Given the description of an element on the screen output the (x, y) to click on. 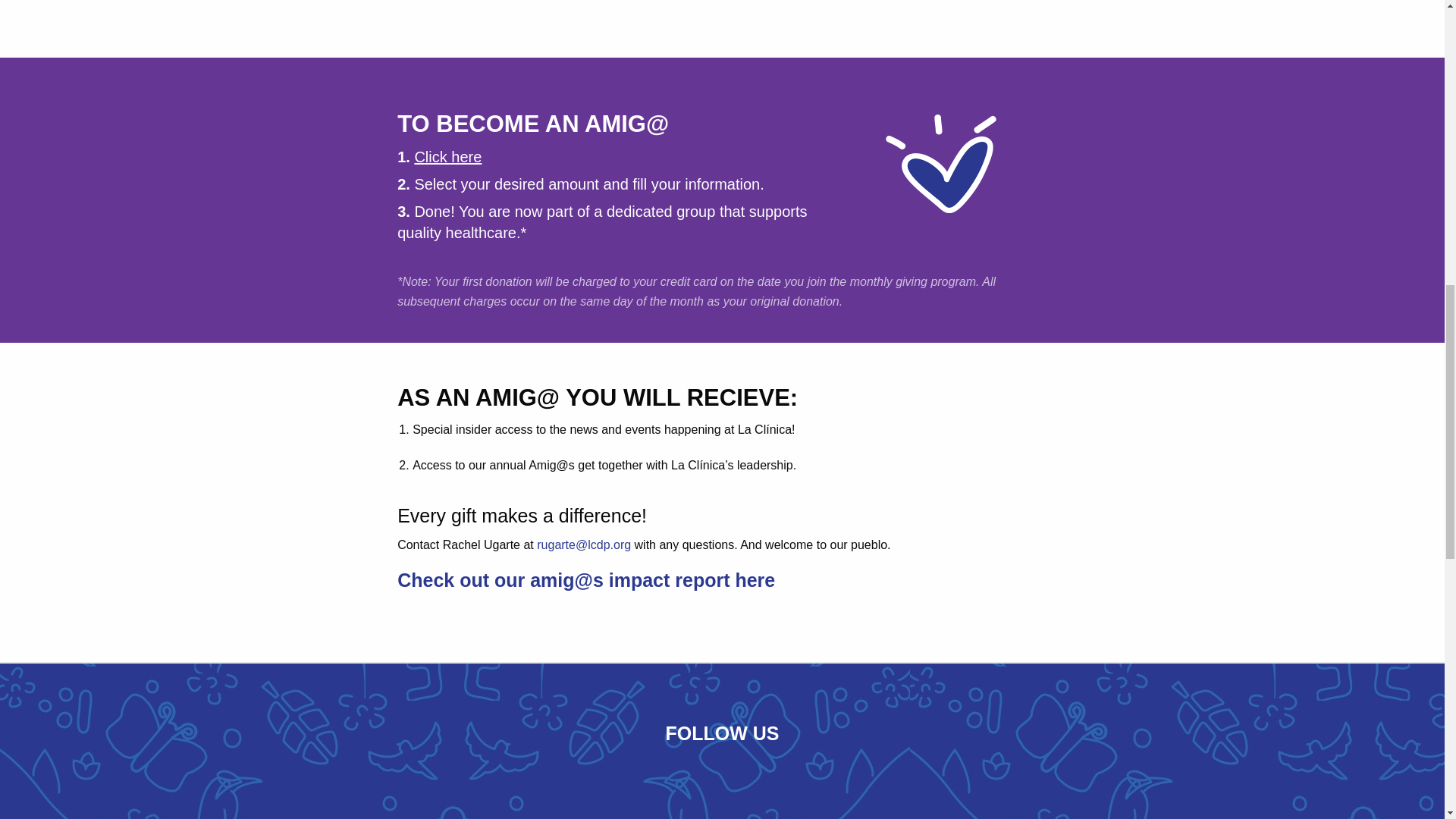
Click here (447, 156)
